Given the description of an element on the screen output the (x, y) to click on. 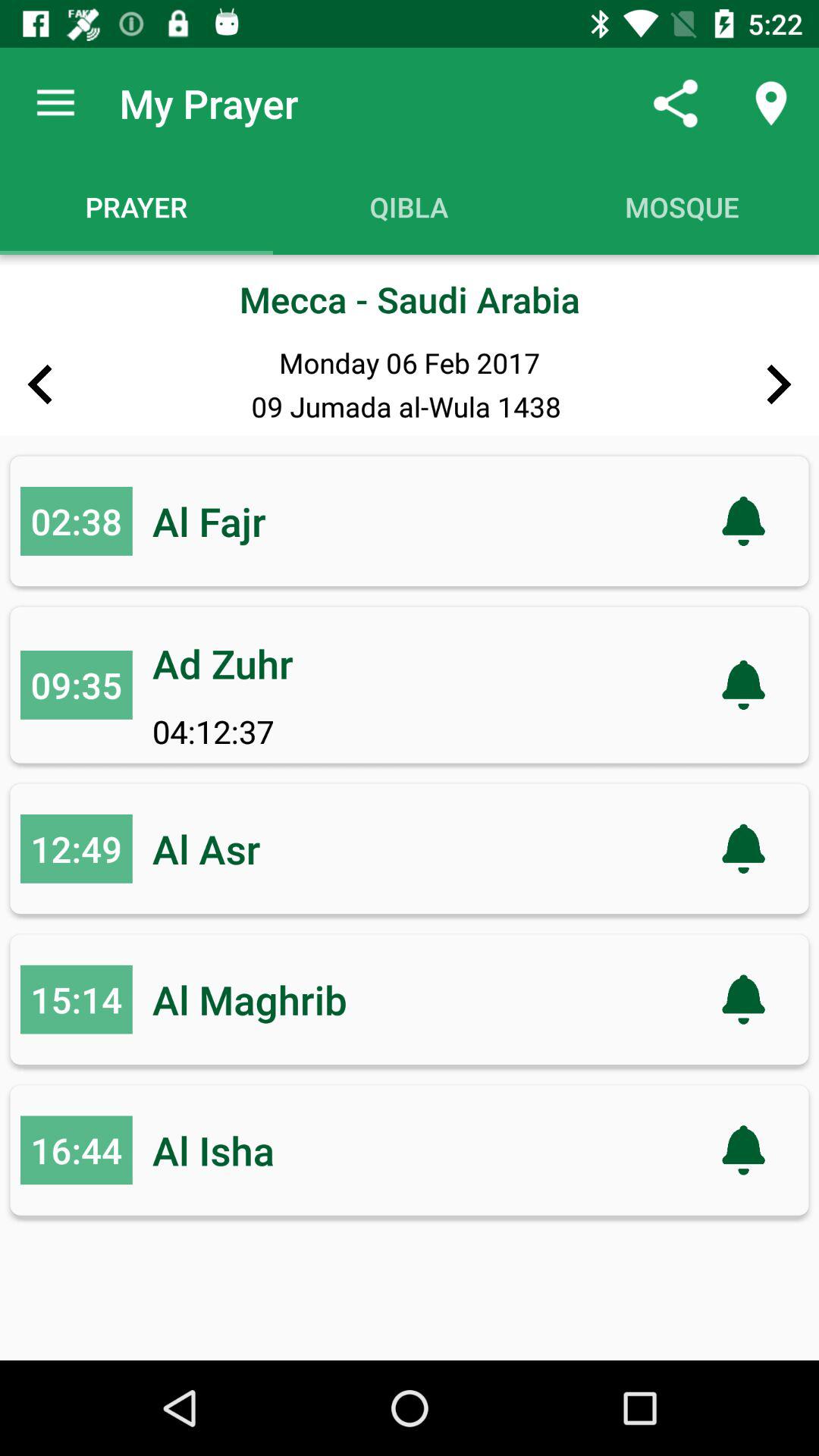
launch the icon to the right of the my prayer app (675, 103)
